Given the description of an element on the screen output the (x, y) to click on. 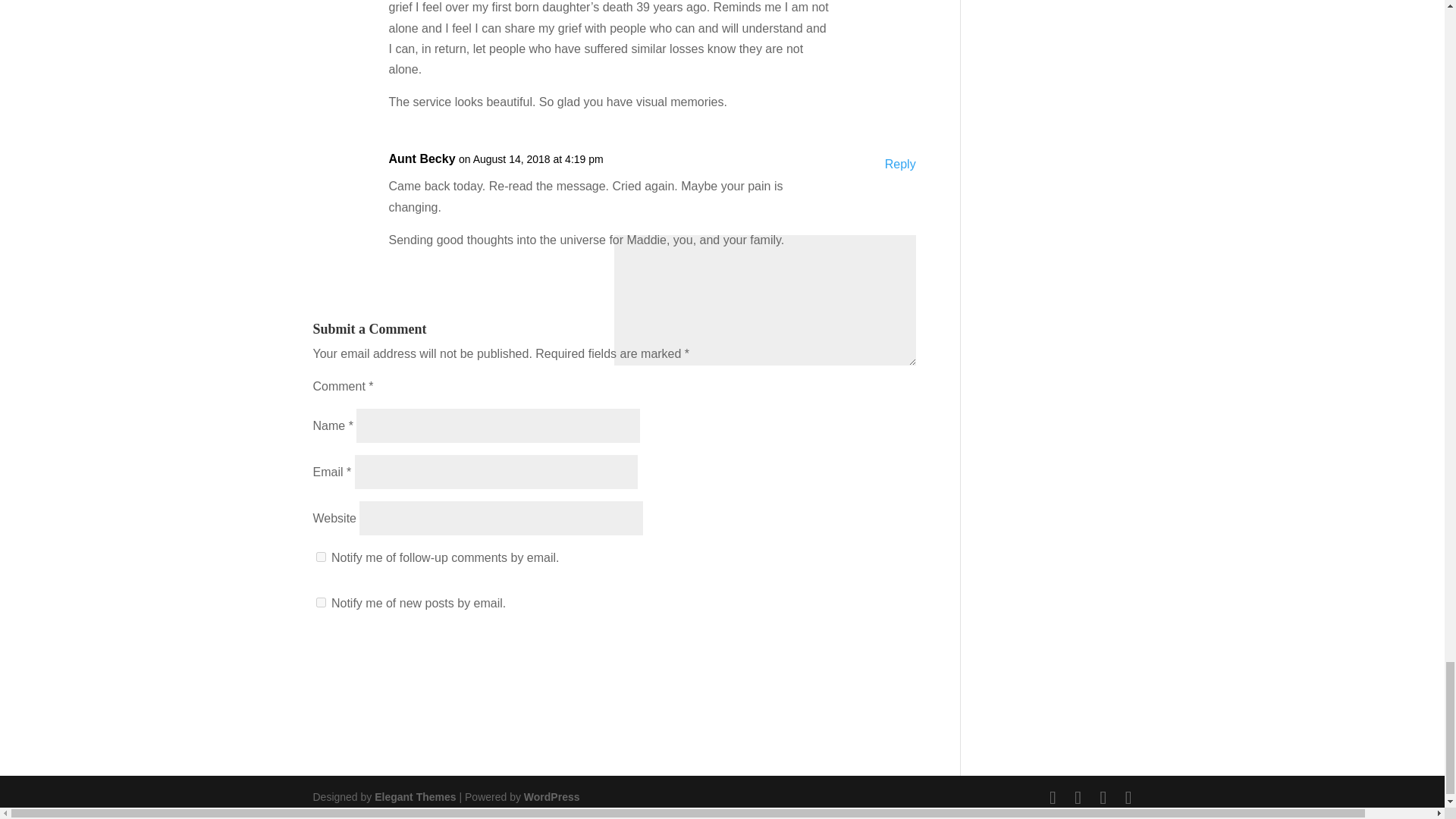
subscribe (319, 556)
subscribe (319, 602)
Submit Comment (845, 653)
